Given the description of an element on the screen output the (x, y) to click on. 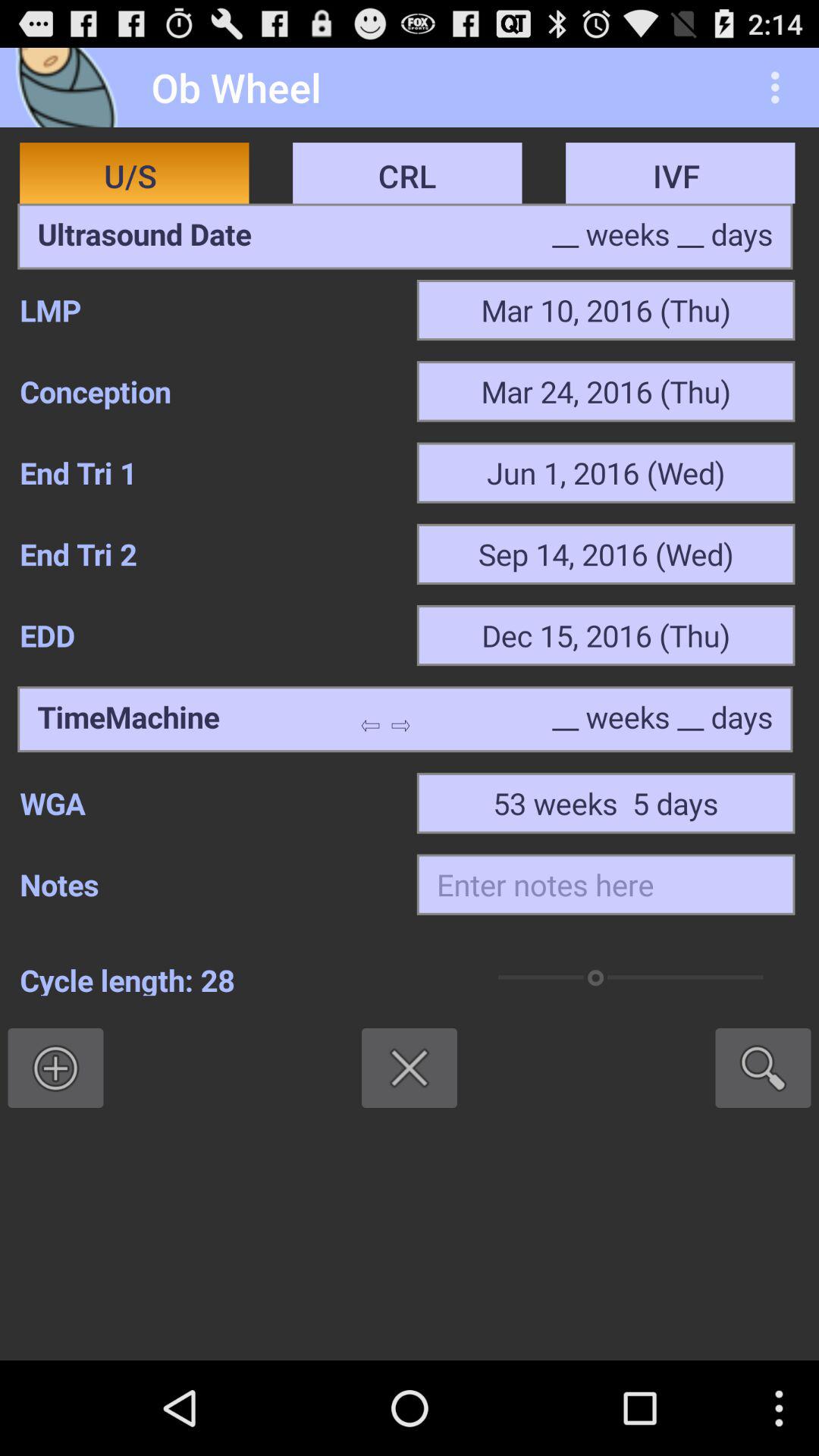
choose the item next to the mar 24 2016 (208, 391)
